Given the description of an element on the screen output the (x, y) to click on. 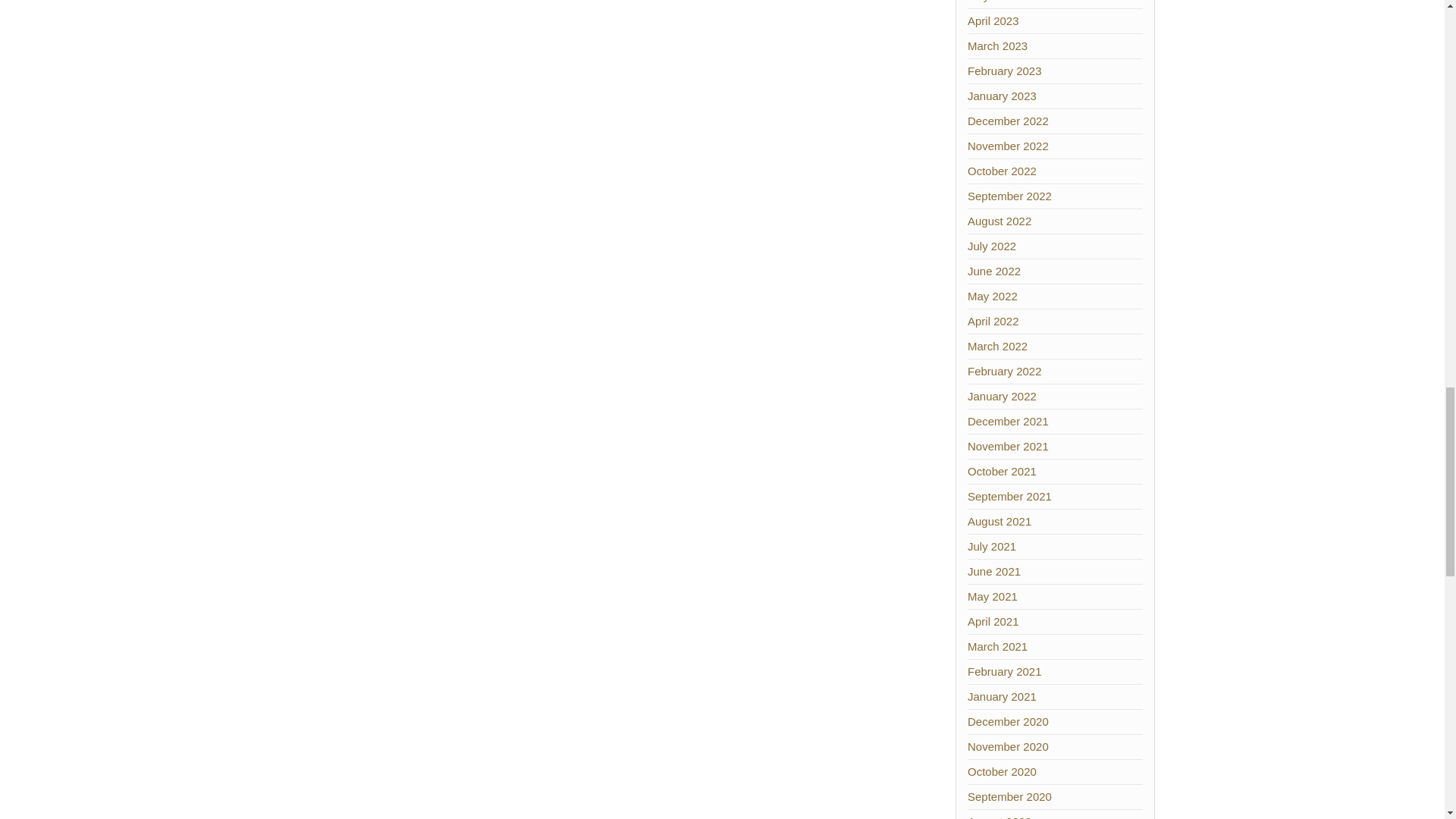
December 2022 (1008, 120)
November 2022 (1008, 145)
February 2023 (1005, 70)
April 2023 (993, 20)
August 2022 (999, 220)
January 2023 (1002, 95)
May 2023 (992, 1)
September 2022 (1009, 195)
March 2023 (997, 45)
October 2022 (1002, 170)
